Given the description of an element on the screen output the (x, y) to click on. 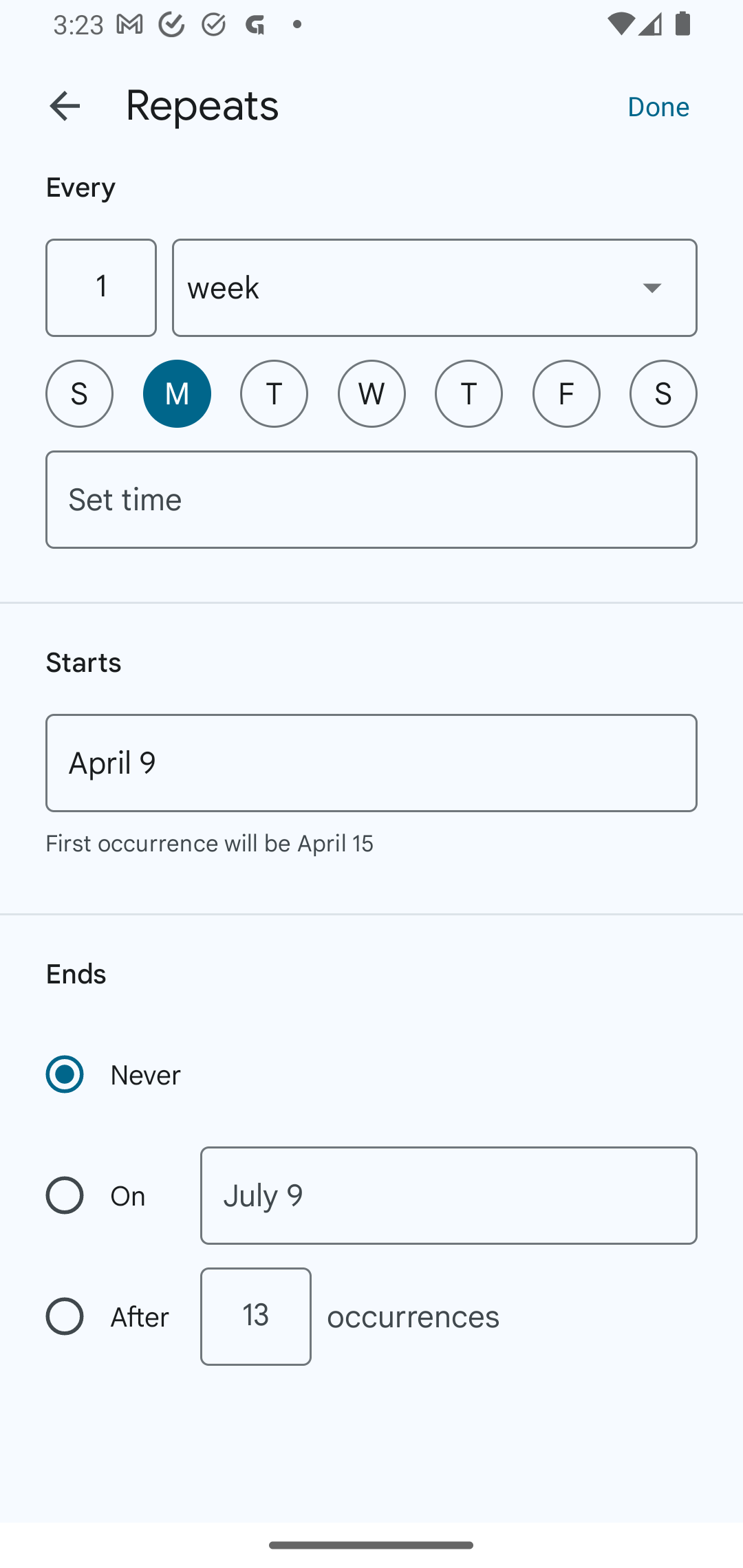
Back (64, 105)
Done (658, 105)
1 (100, 287)
week (434, 287)
Show dropdown menu (652, 286)
S Sunday (79, 393)
M Monday, selected (177, 393)
T Tuesday (273, 393)
W Wednesday (371, 393)
T Thursday (468, 393)
F Friday (566, 393)
S Saturday (663, 393)
Set time (371, 499)
April 9 (371, 762)
Never Recurrence never ends (115, 1074)
July 9 (448, 1195)
On Recurrence ends on a specific date (109, 1195)
13 (255, 1315)
